Given the description of an element on the screen output the (x, y) to click on. 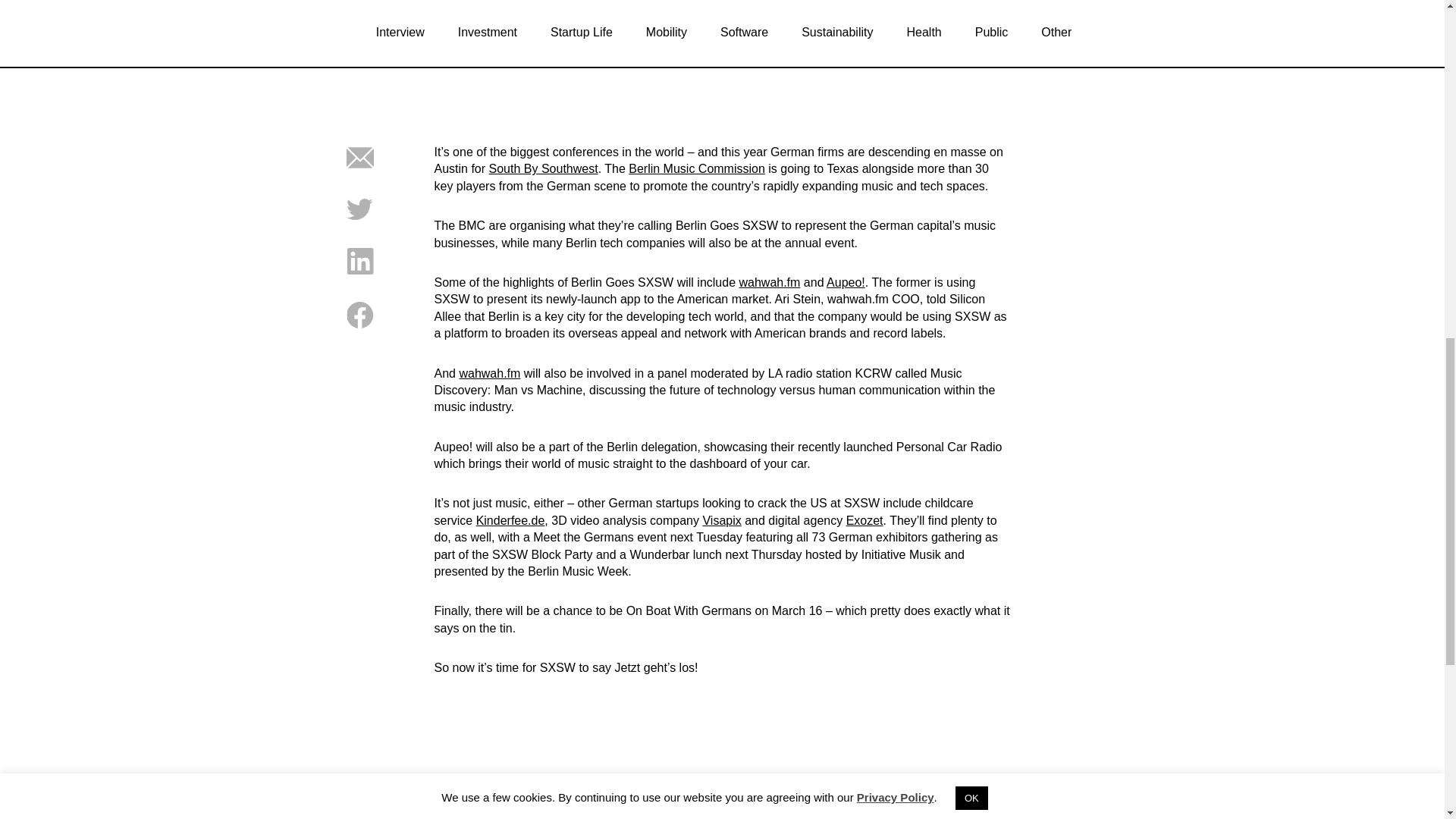
Kinderfee.de (510, 520)
wahwah.fm (768, 282)
wahwah.fm (488, 373)
Share by Email (359, 166)
South By Southwest (543, 168)
Exozet (864, 520)
Visapix (721, 520)
Aupeo! (845, 282)
Berlin Music Commission (696, 168)
